Given the description of an element on the screen output the (x, y) to click on. 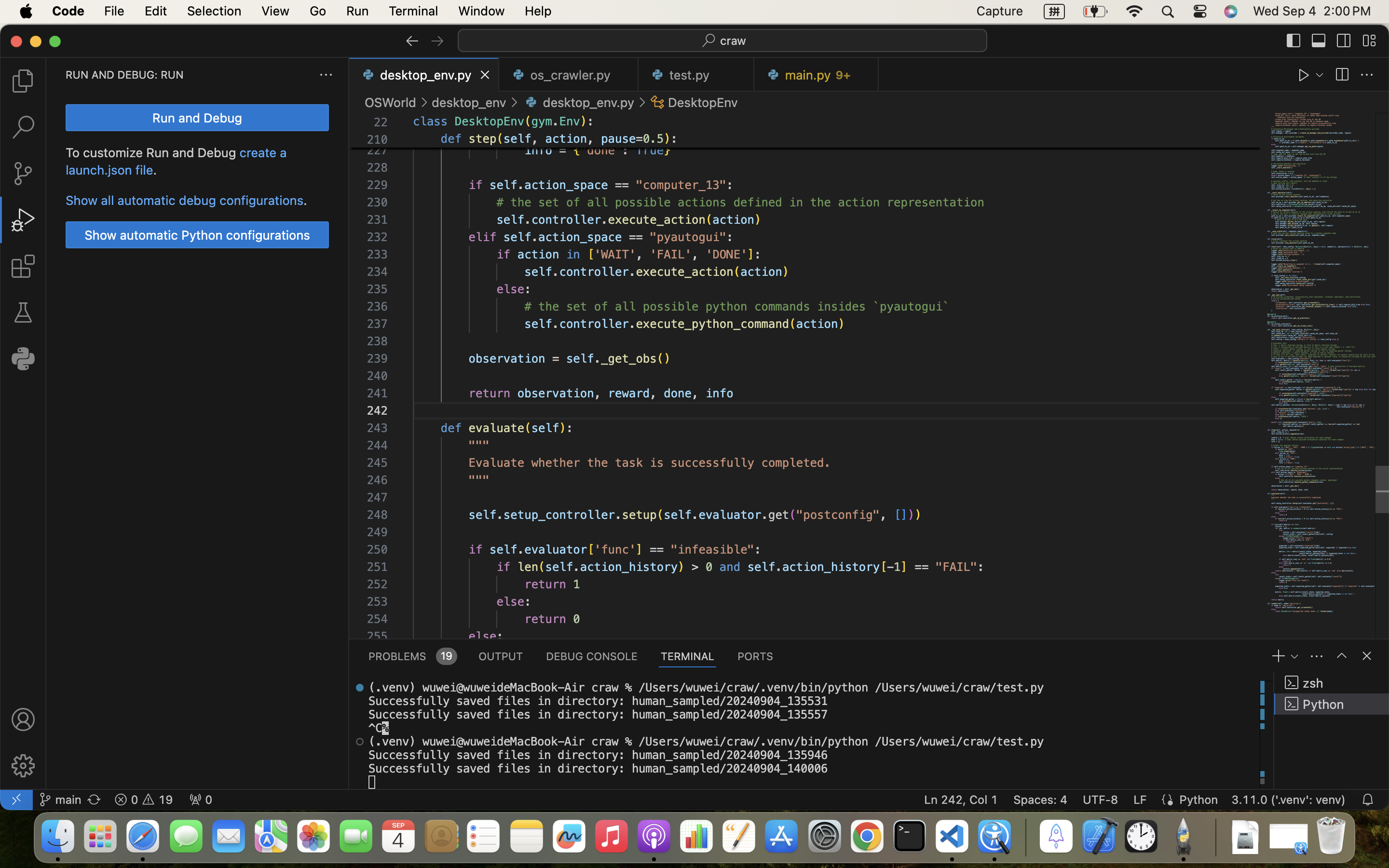
gym Element type: AXStaticText (541, 121)
1  Element type: AXRadioButton (23, 219)
0 PROBLEMS 19 Element type: AXRadioButton (411, 655)
19  0  Element type: AXButton (143, 799)
1 desktop_env.py   Element type: AXRadioButton (424, 74)
